Given the description of an element on the screen output the (x, y) to click on. 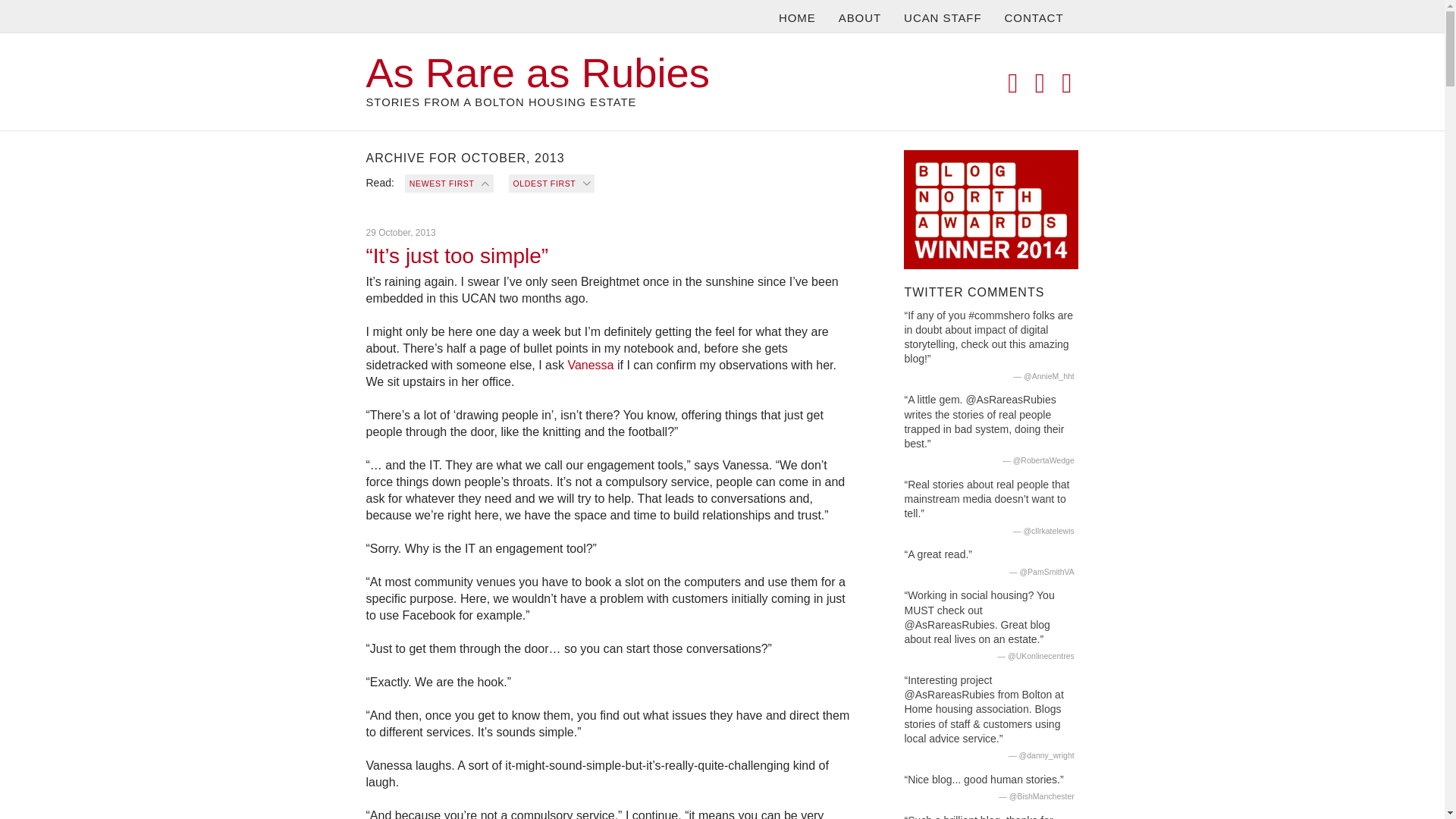
UCAN STAFF (942, 16)
HOME (797, 16)
As Rare as Rubies (537, 72)
ABOUT (859, 16)
CONTACT (1034, 16)
NEWEST FIRST (448, 183)
Vanessa (589, 364)
OLDEST FIRST (551, 183)
UCAN Staff (589, 364)
